Given the description of an element on the screen output the (x, y) to click on. 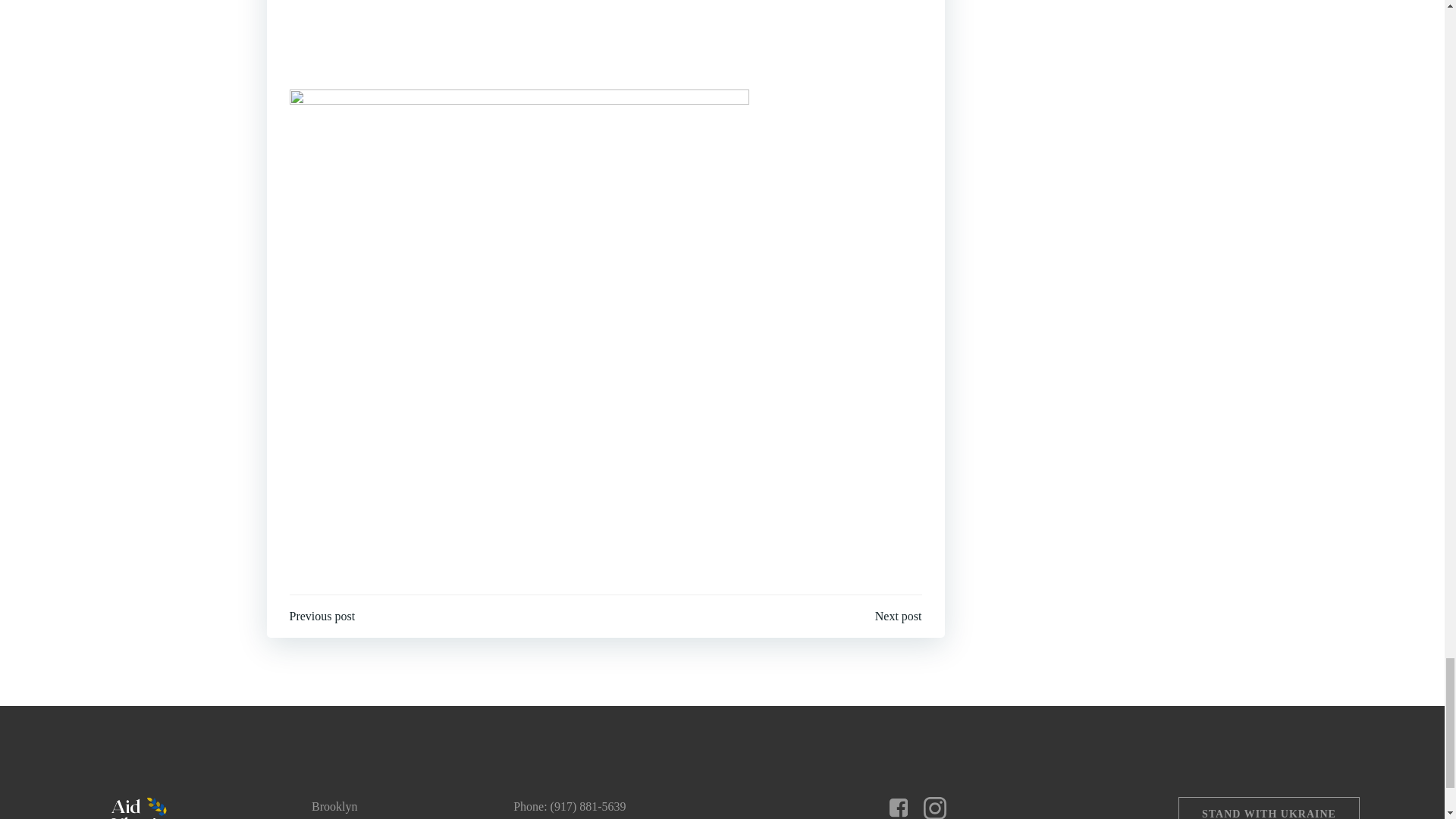
Previous post (322, 616)
Next post (898, 616)
STAND WITH UKRAINE (1268, 807)
